Given the description of an element on the screen output the (x, y) to click on. 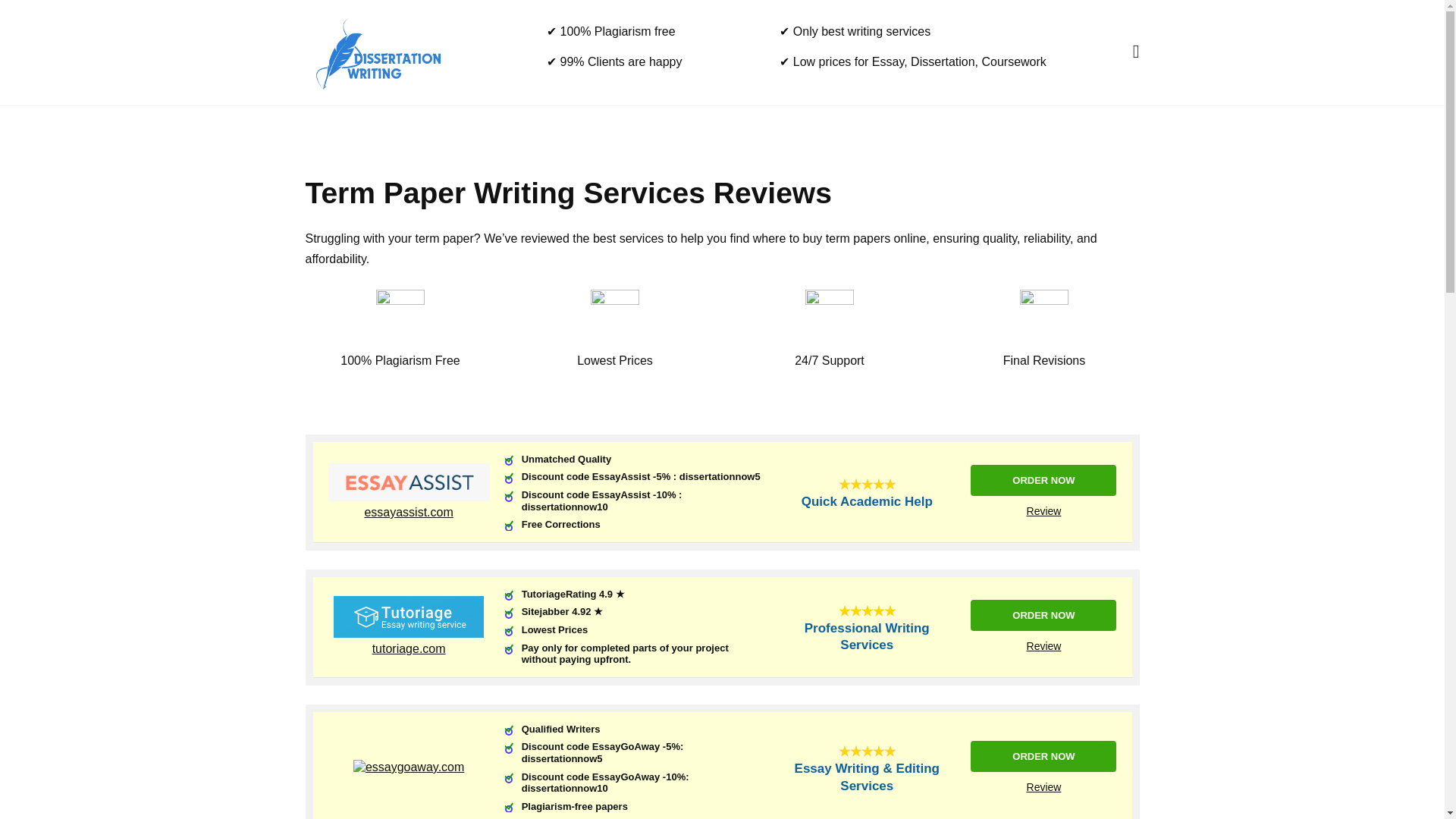
essaygoaway.com (1043, 787)
essaygoaway.com (414, 766)
Review (1043, 787)
ORDER NOW (1043, 614)
tutoriage.com (408, 633)
tutoriage.com (1043, 645)
Biographies (689, 130)
essayassist.com (408, 512)
Dissertation (343, 130)
Review (1043, 645)
